Given the description of an element on the screen output the (x, y) to click on. 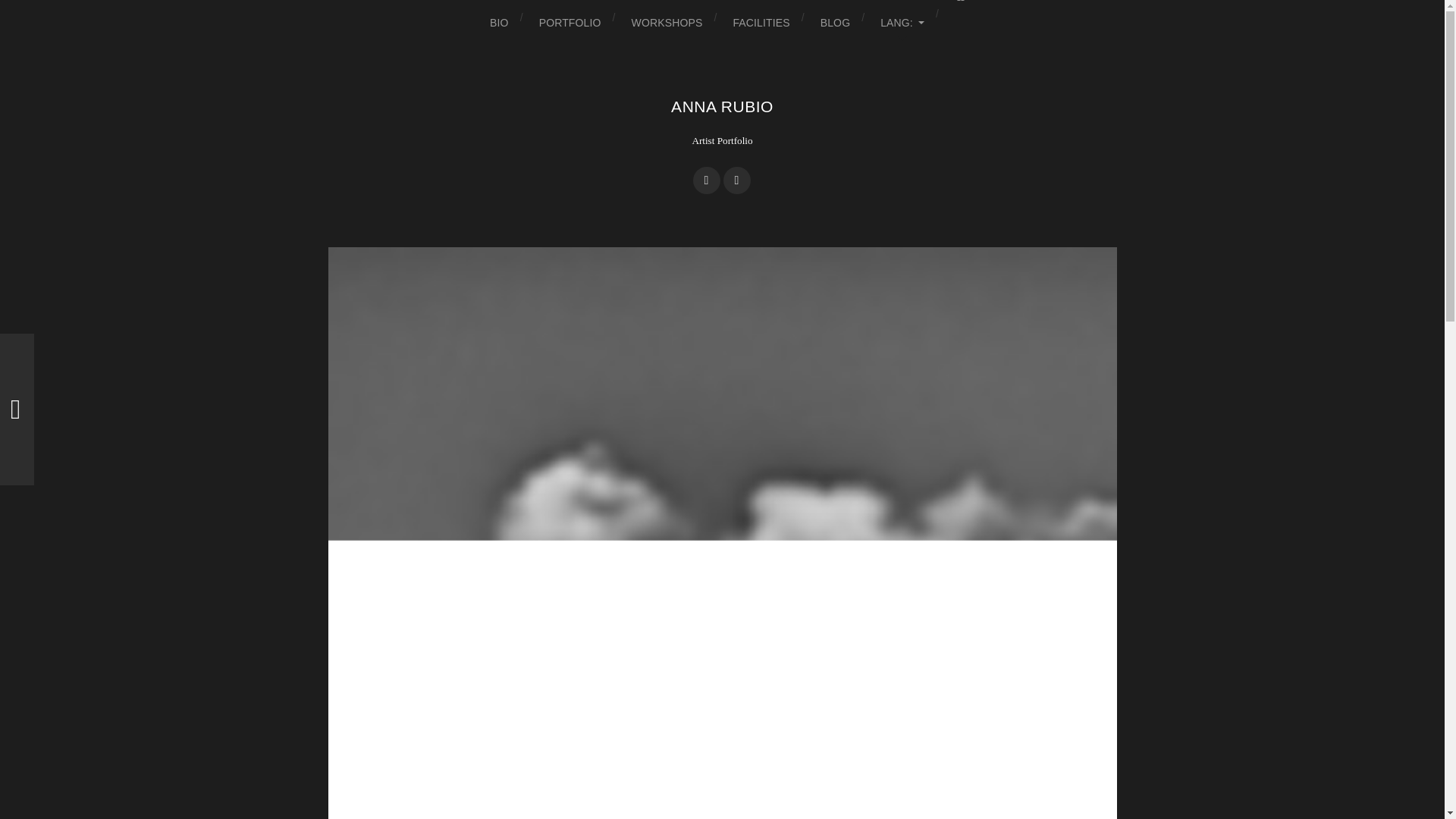
ANNA RUBIO (722, 106)
English (902, 22)
FACILITIES (760, 22)
PORTFOLIO (569, 22)
WORKSHOPS (667, 22)
LANG: (902, 22)
